Given the description of an element on the screen output the (x, y) to click on. 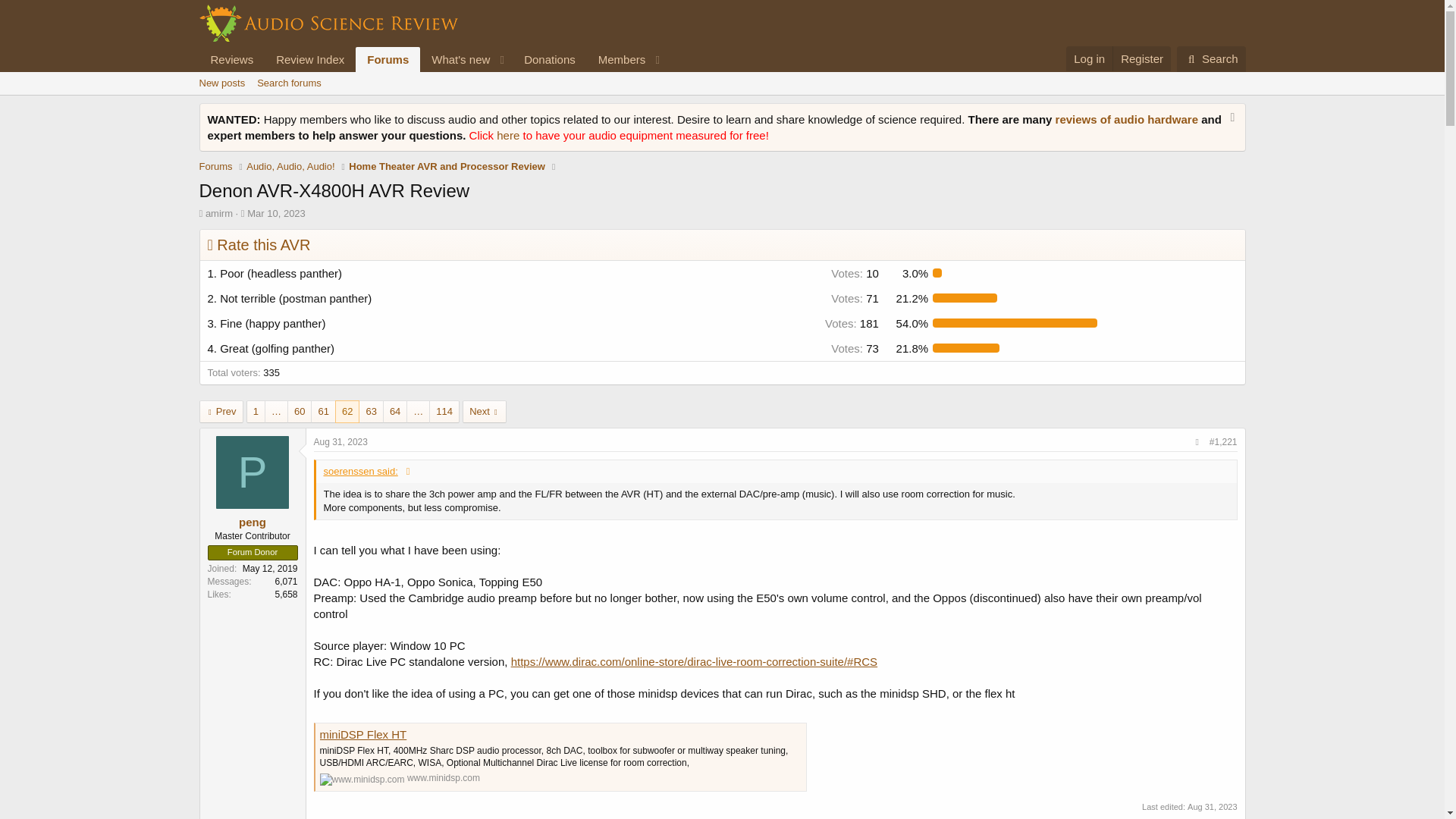
New posts (221, 83)
Members (616, 59)
1 (255, 411)
Search (1211, 58)
reviews of audio hardware (1128, 119)
Go to page (418, 411)
Forums (214, 166)
Prev (220, 411)
Log in (1088, 58)
Go to page (432, 59)
Search forums (275, 411)
What's new (288, 83)
Mar 10, 2023 (456, 59)
Start date (276, 213)
